Given the description of an element on the screen output the (x, y) to click on. 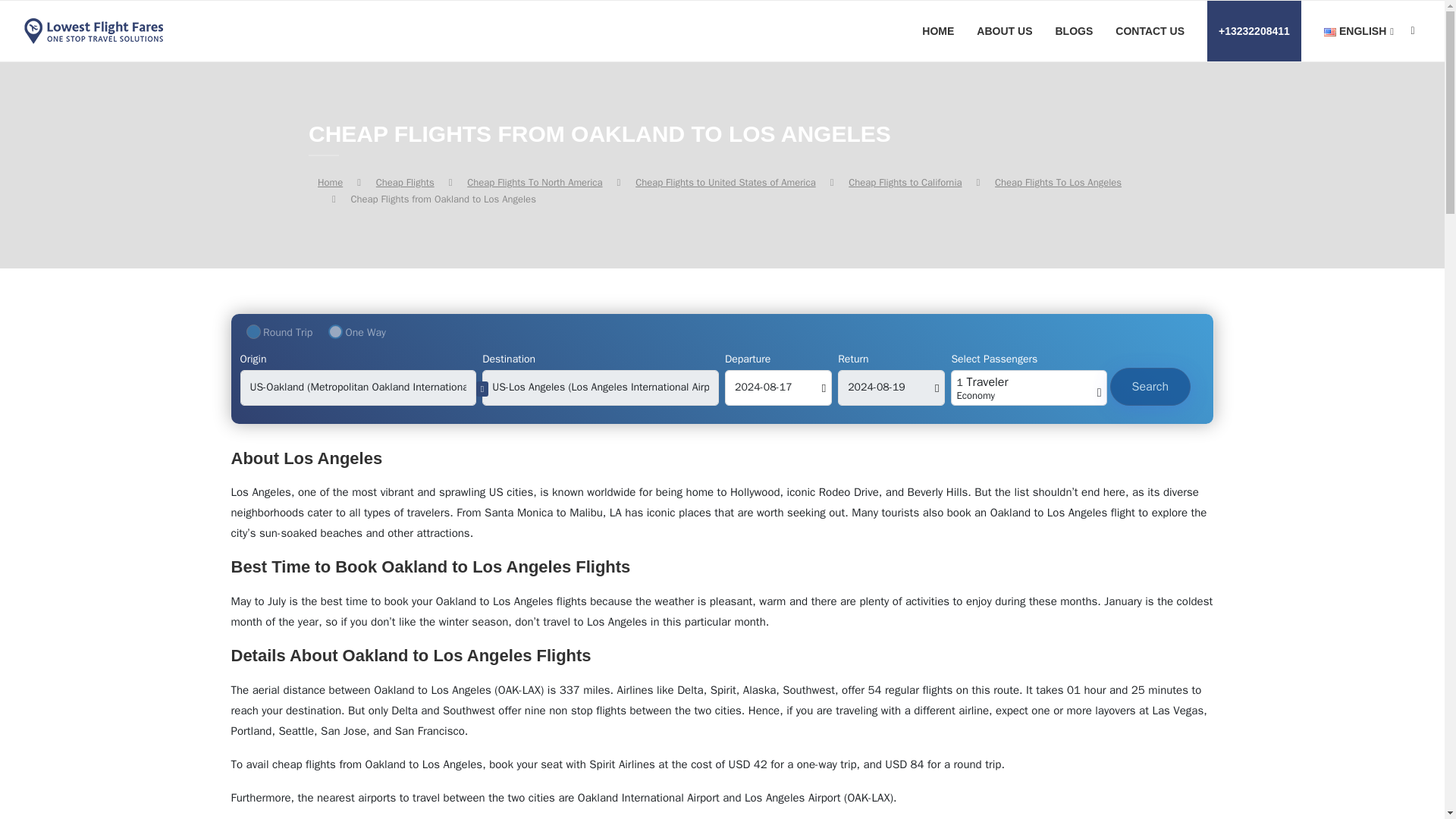
CONTACT US (1150, 30)
oneway (335, 331)
Cheap Flights to California (904, 182)
2024-08-17 (778, 387)
Home (329, 182)
Cheap Flights to United States of America (724, 182)
2024-08-19 (891, 387)
Cheap Flights To Los Angeles (1057, 182)
ABOUT US (1004, 30)
Cheap Flights To North America (534, 182)
